Given the description of an element on the screen output the (x, y) to click on. 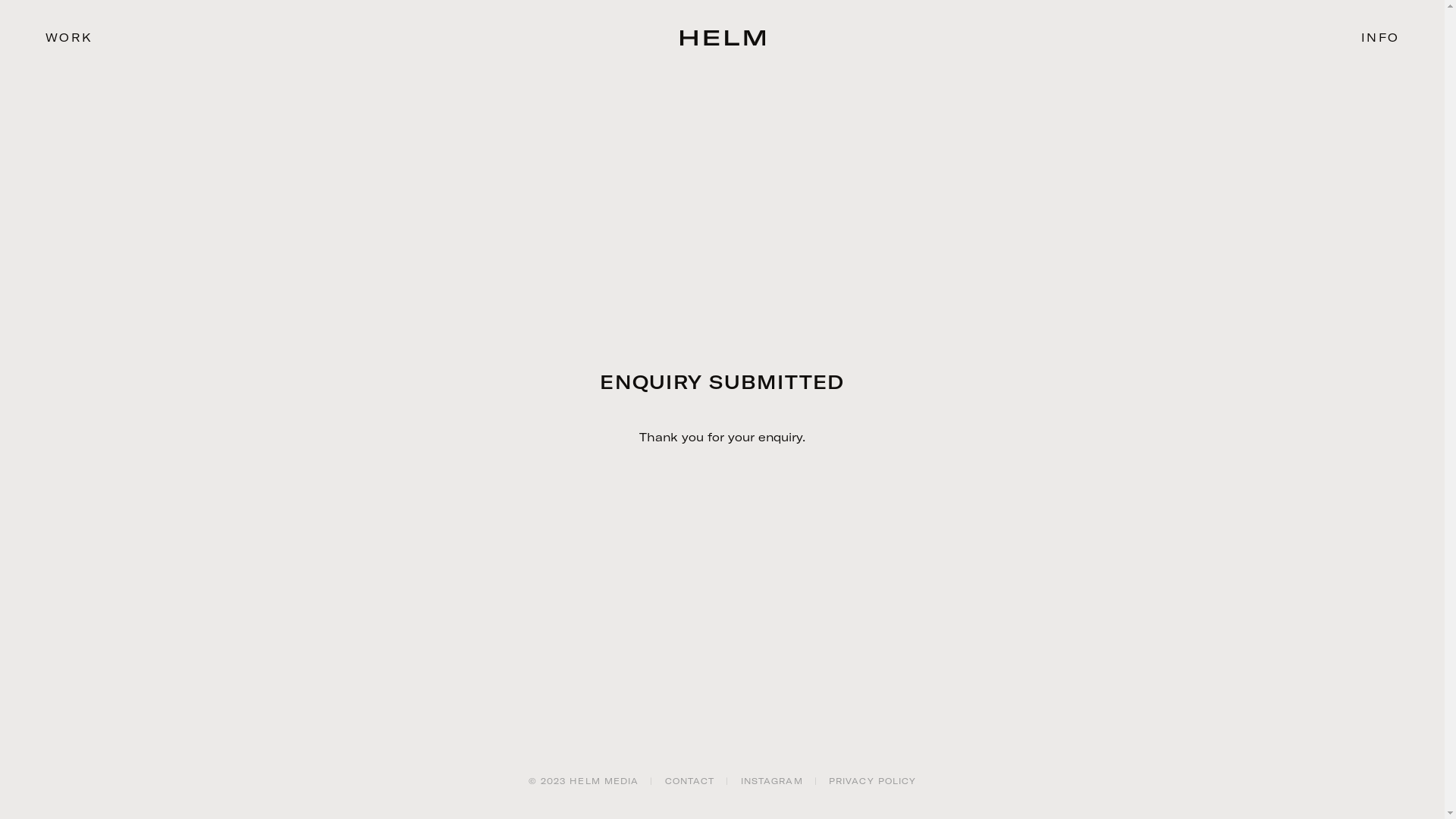
CONTACT Element type: text (690, 780)
PRIVACY POLICY Element type: text (872, 780)
WORK Element type: text (83, 37)
INFO Element type: text (1361, 37)
HELM Media Element type: hover (721, 37)
INSTAGRAM Element type: text (771, 780)
